Given the description of an element on the screen output the (x, y) to click on. 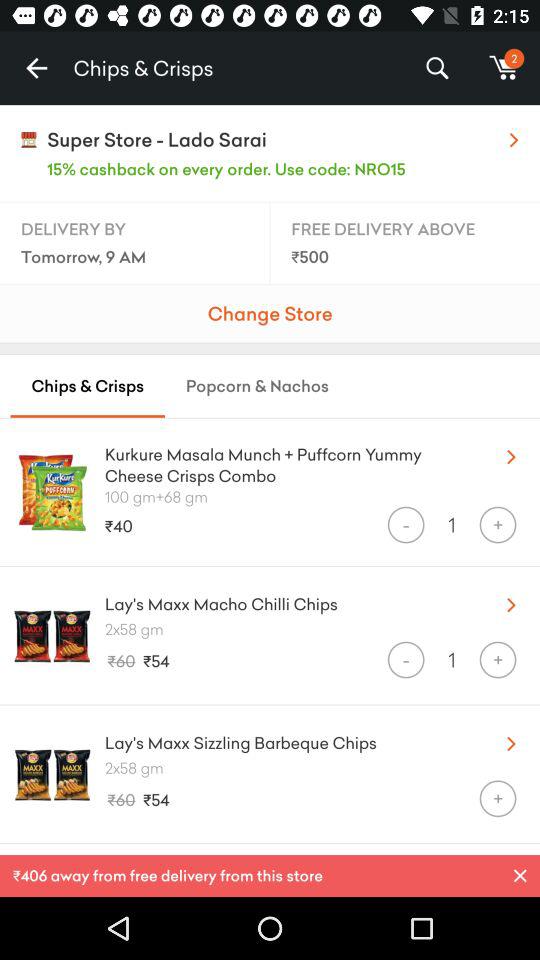
turn on the item below the 2x58 gm item (405, 659)
